Given the description of an element on the screen output the (x, y) to click on. 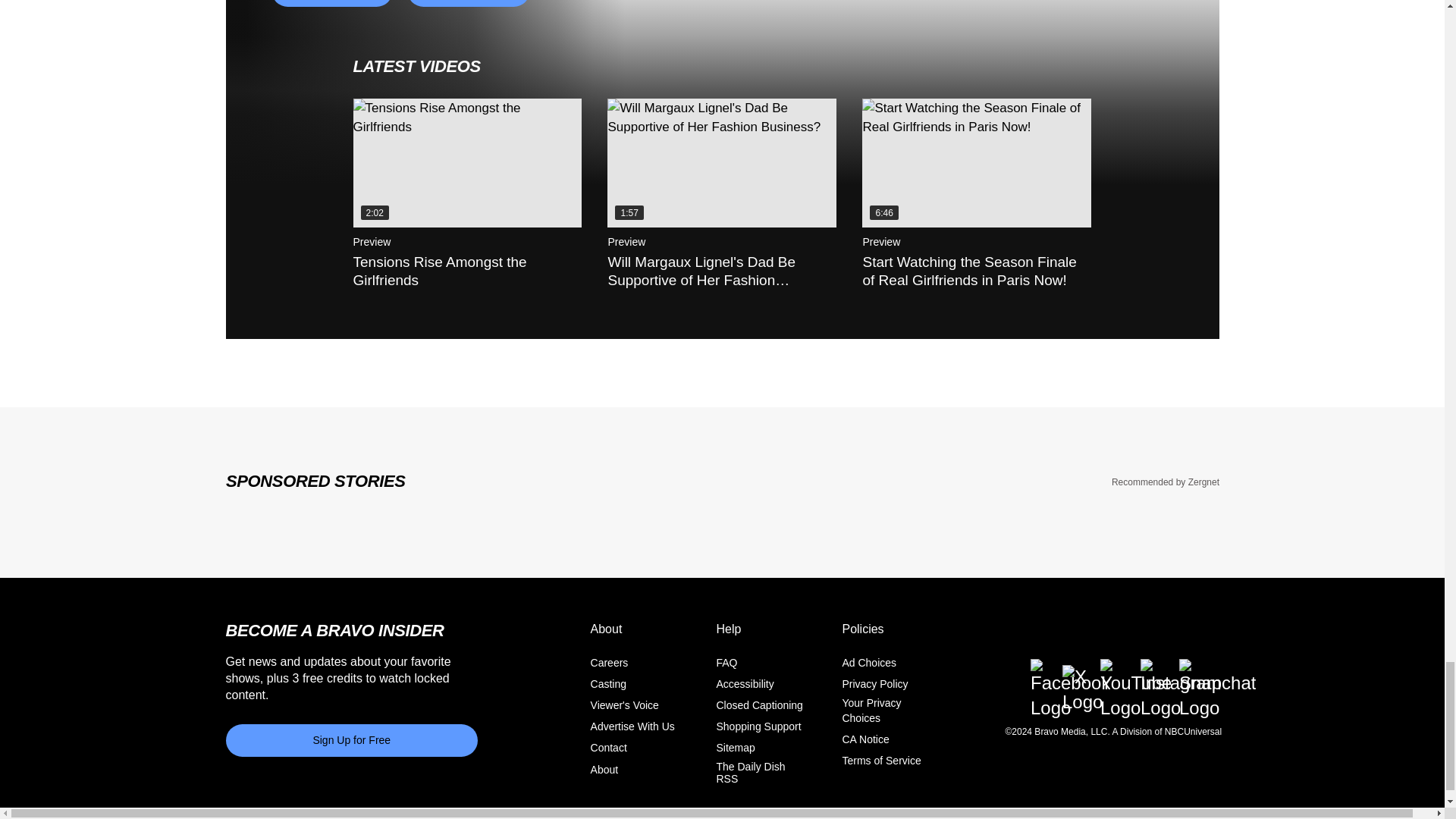
Tensions Rise Amongst the Girlfriends (467, 162)
